Given the description of an element on the screen output the (x, y) to click on. 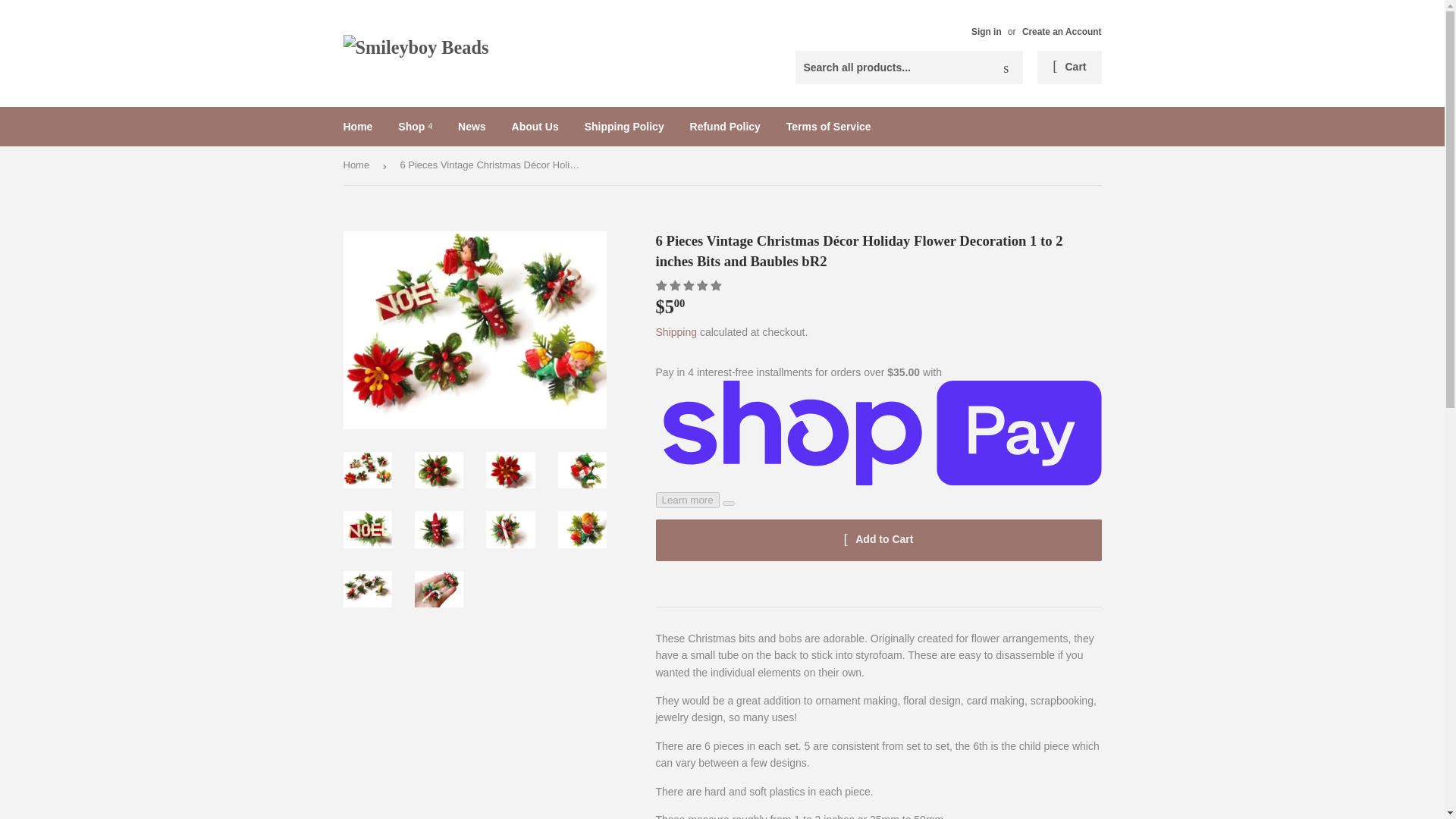
Cart (1068, 67)
Create an Account (1062, 31)
Search (1005, 68)
Home (357, 126)
Shop (415, 126)
Sign in (986, 31)
